Given the description of an element on the screen output the (x, y) to click on. 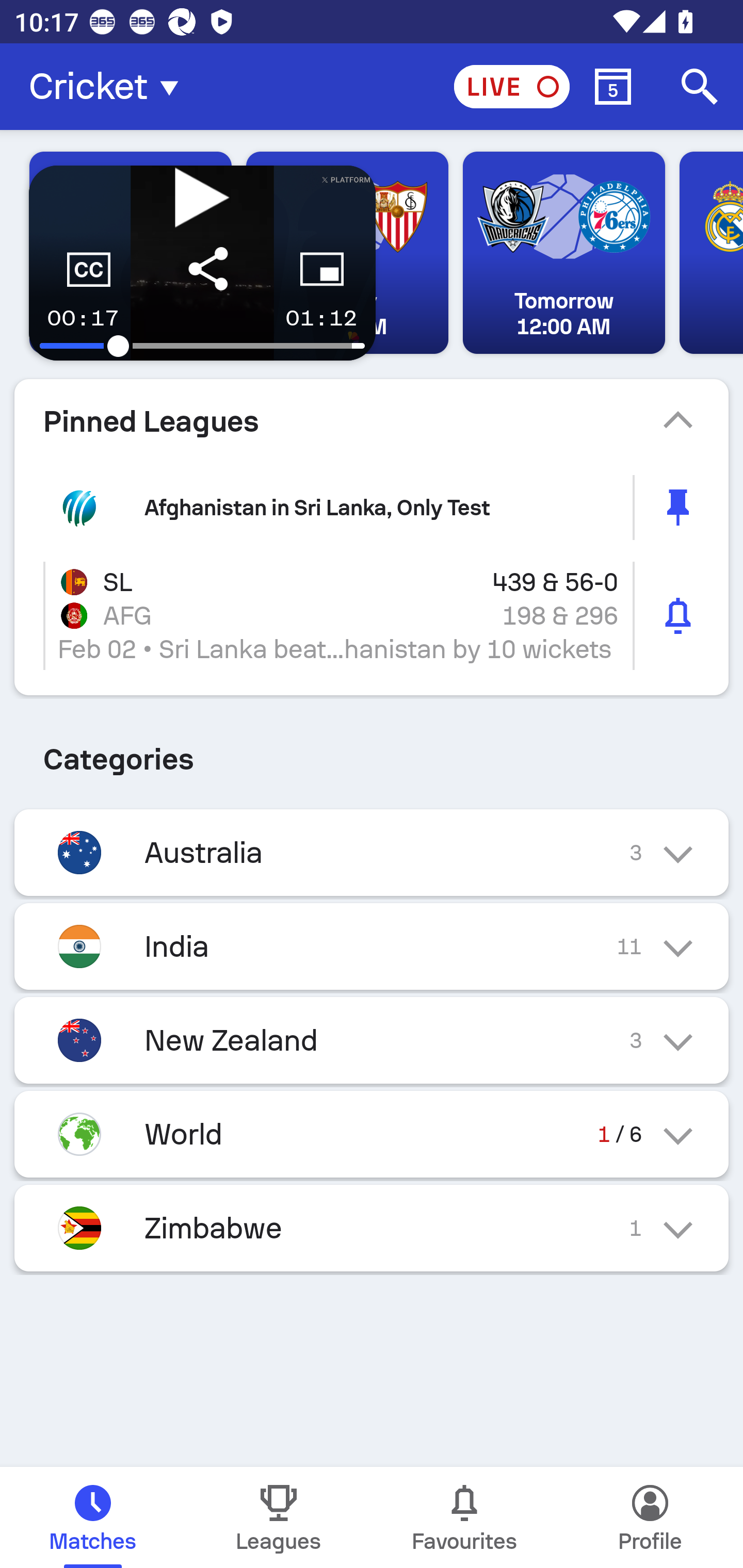
Cricket (109, 86)
Calendar (612, 86)
Search (699, 86)
Tomorrow
12:00 AM (563, 253)
Pinned Leagues (371, 421)
Afghanistan in Sri Lanka, Only Test (371, 507)
Categories (371, 752)
Australia 3 (371, 852)
India 11 (371, 946)
New Zealand 3 (371, 1040)
World 1 / 6 (371, 1134)
Zimbabwe 1 (371, 1228)
Leagues (278, 1517)
Favourites (464, 1517)
Profile (650, 1517)
